Given the description of an element on the screen output the (x, y) to click on. 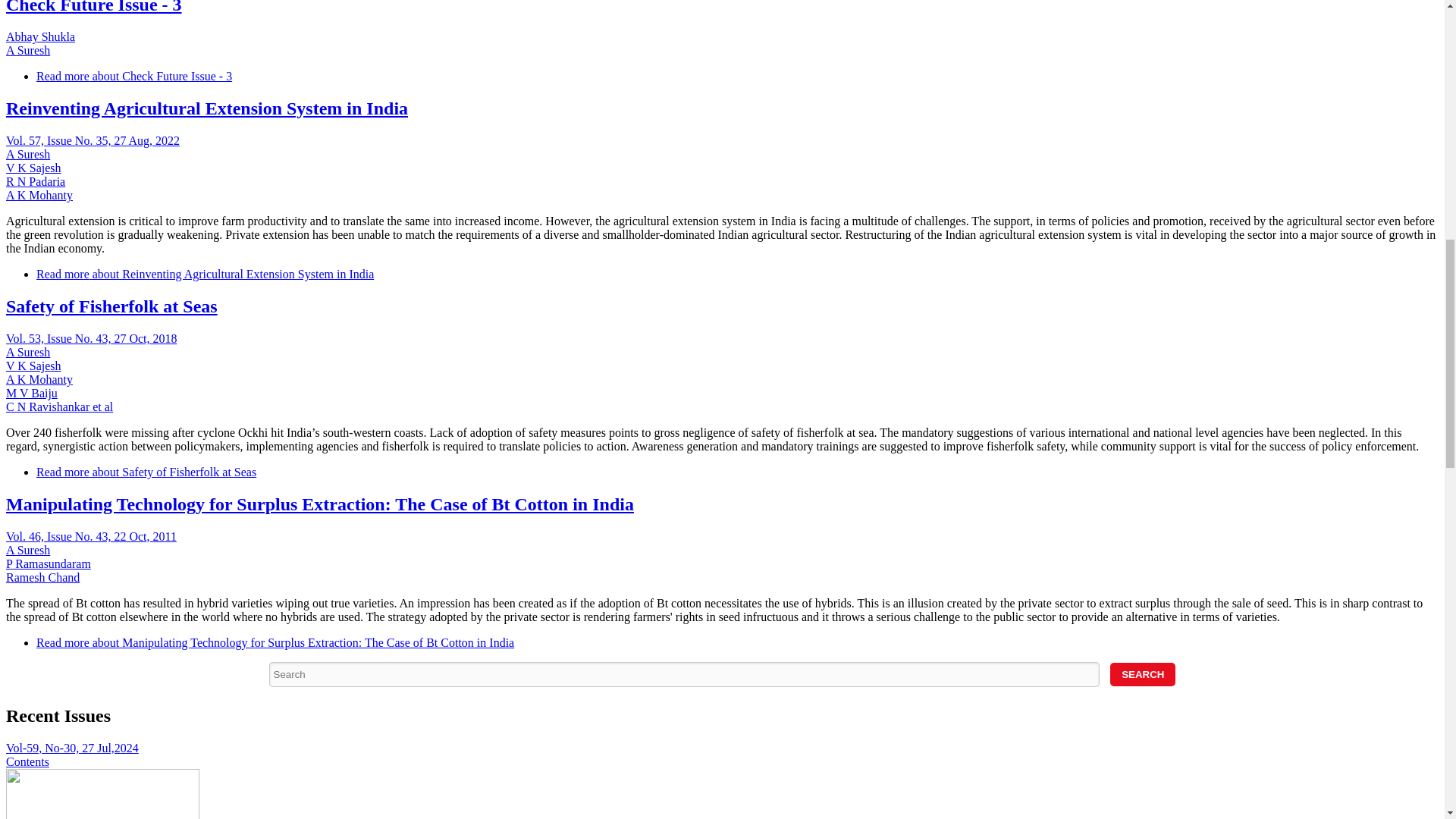
Search (1141, 674)
